Given the description of an element on the screen output the (x, y) to click on. 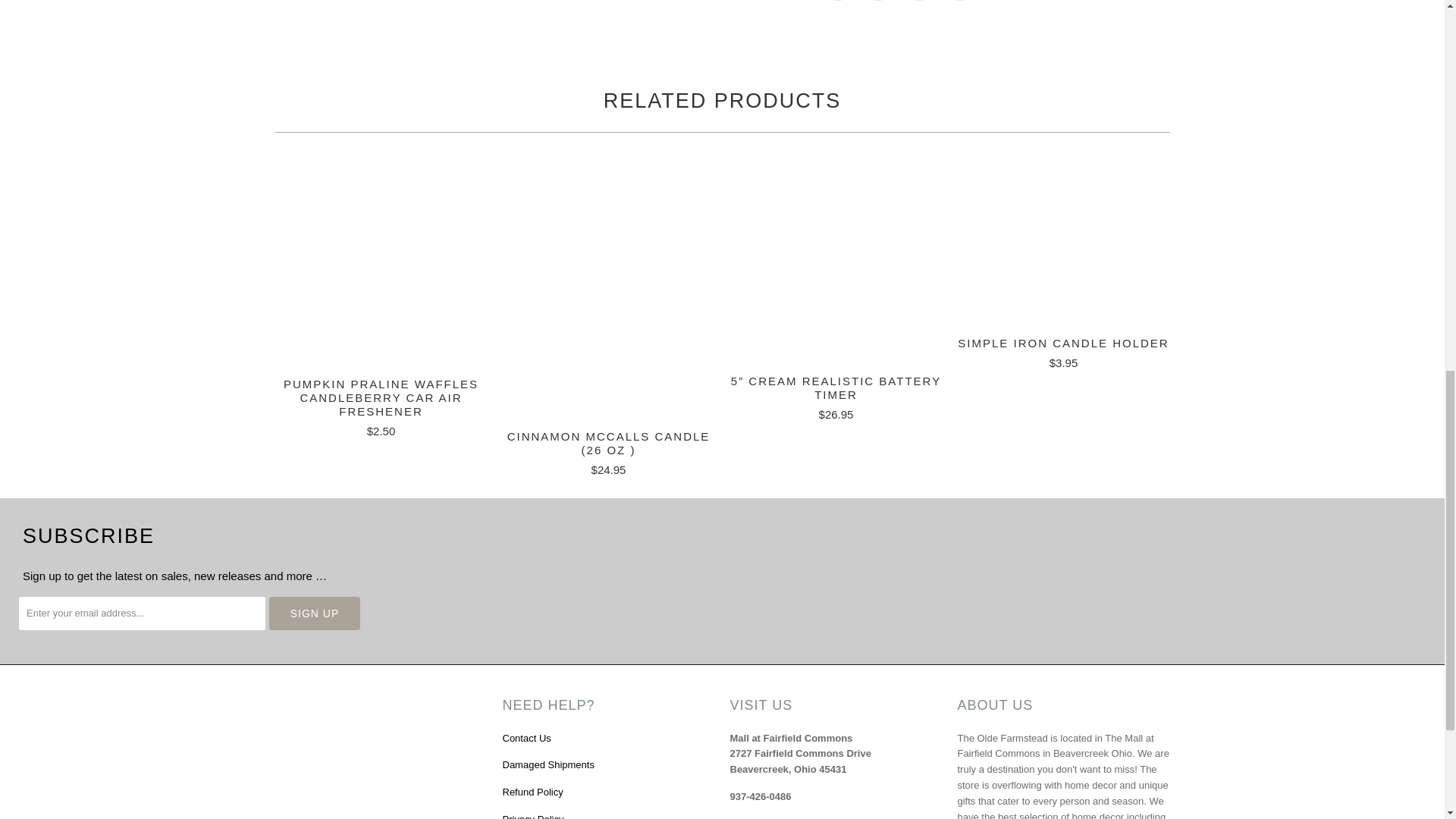
Sign Up (314, 613)
